Given the description of an element on the screen output the (x, y) to click on. 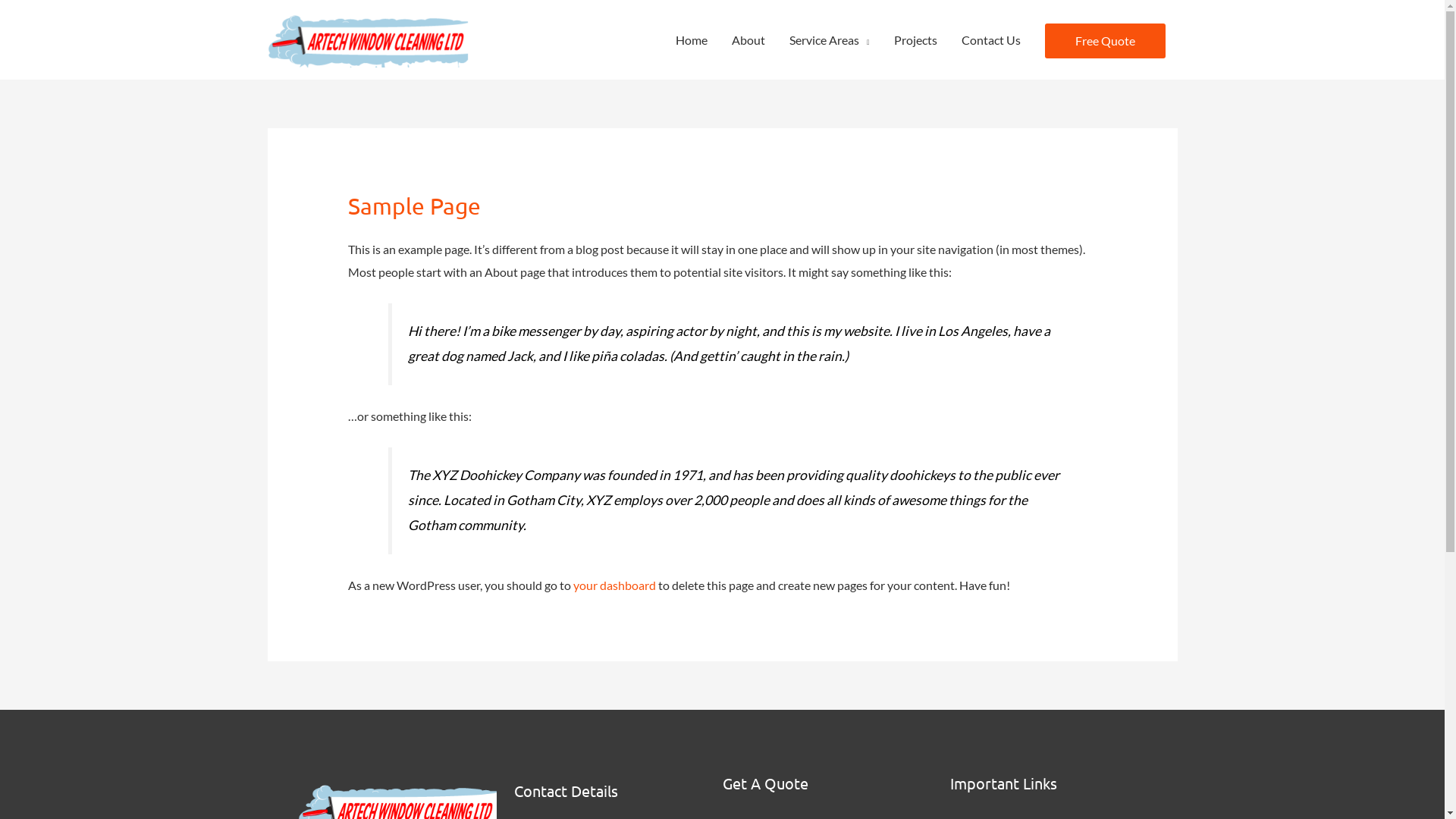
your dashboard Element type: text (614, 584)
Service Areas Element type: text (829, 39)
Contact Us Element type: text (990, 39)
Free Quote Element type: text (1104, 40)
Home Element type: text (691, 39)
Projects Element type: text (914, 39)
About Element type: text (748, 39)
